Given the description of an element on the screen output the (x, y) to click on. 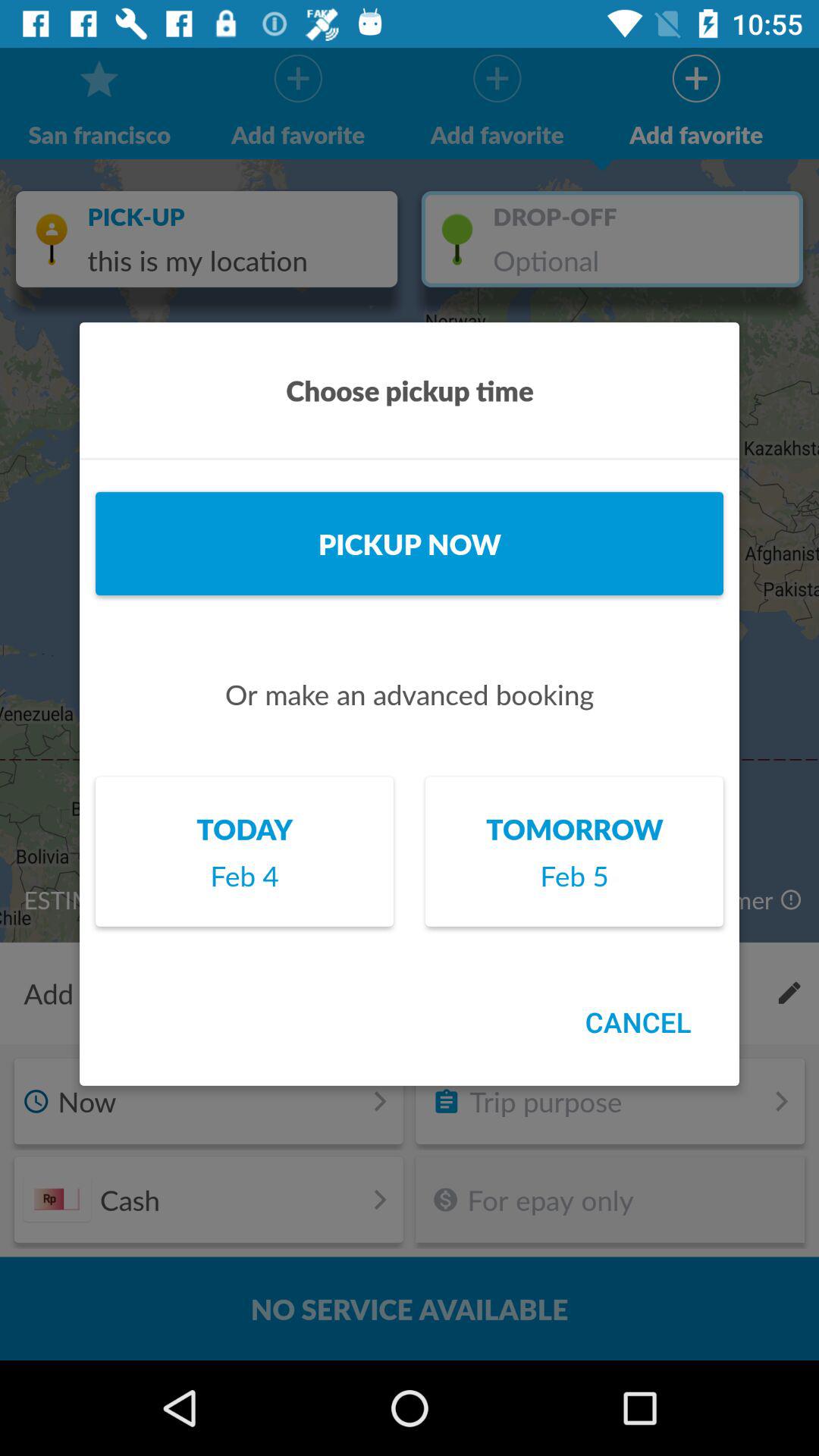
jump until the cancel (638, 1021)
